Given the description of an element on the screen output the (x, y) to click on. 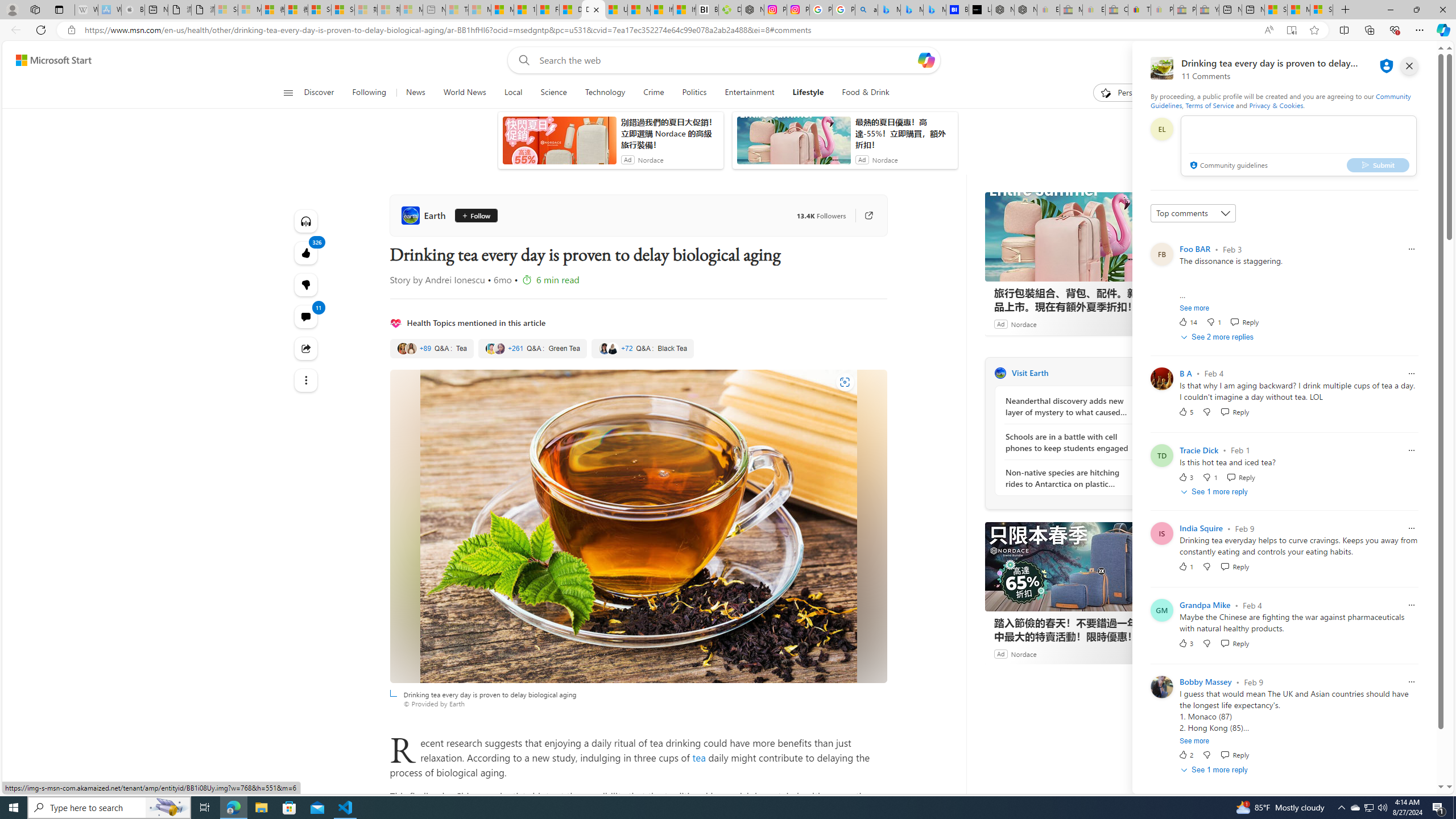
Community Guidelines (1280, 100)
Lifestyle (807, 92)
Workspaces (34, 9)
Food & Drink (865, 92)
Go to publisher's site (863, 215)
close (1409, 65)
Close tab (596, 9)
News (415, 92)
Tea (432, 348)
Foo BAR (1195, 248)
Privacy & Cookies (1276, 104)
